Given the description of an element on the screen output the (x, y) to click on. 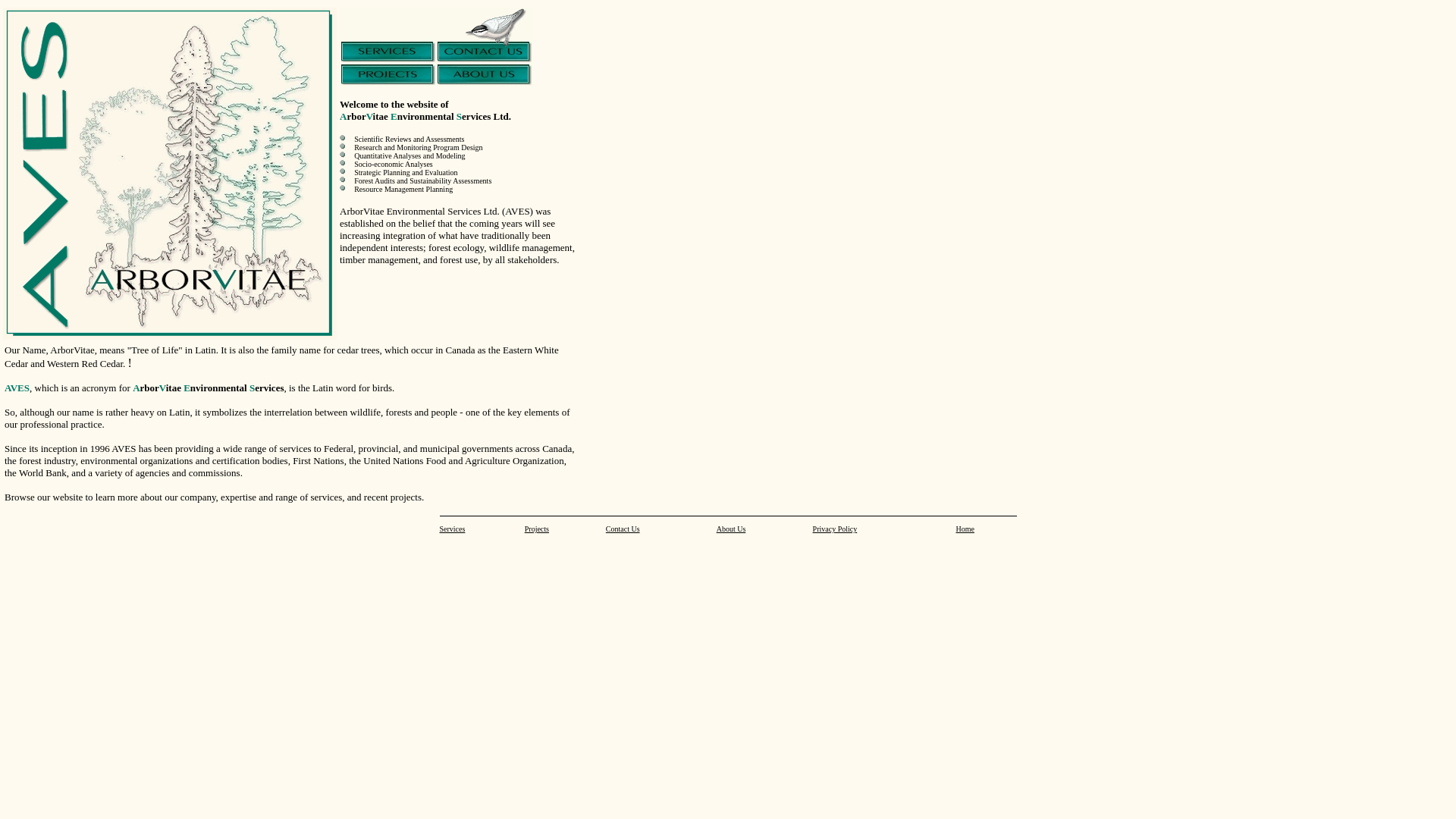
Projects Element type: text (536, 532)
Contact Us Element type: text (622, 532)
Home Element type: text (964, 532)
Privacy Policy Element type: text (834, 532)
Services Element type: text (452, 532)
About Us Element type: text (731, 532)
